Given the description of an element on the screen output the (x, y) to click on. 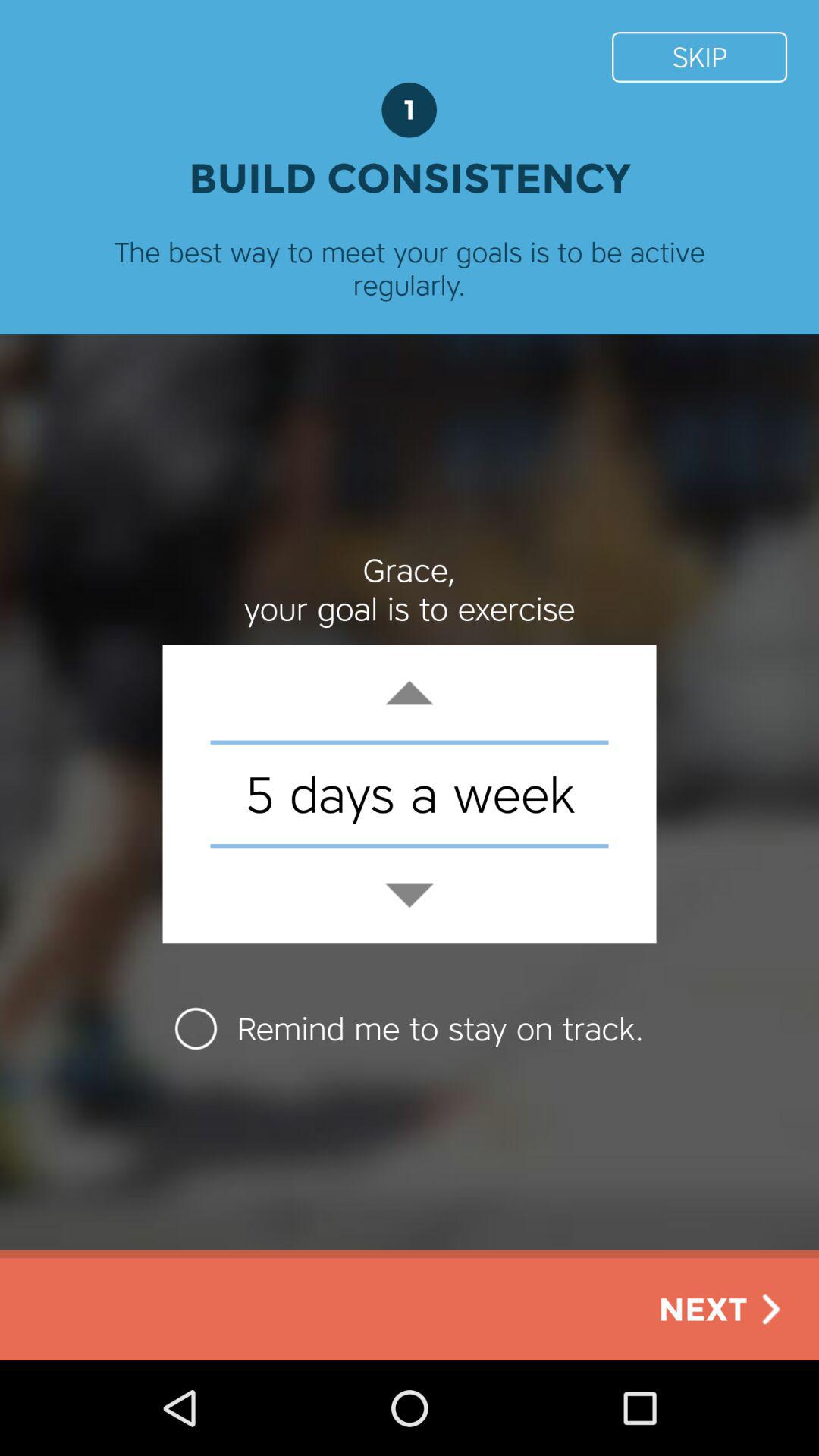
jump until skip (699, 56)
